Given the description of an element on the screen output the (x, y) to click on. 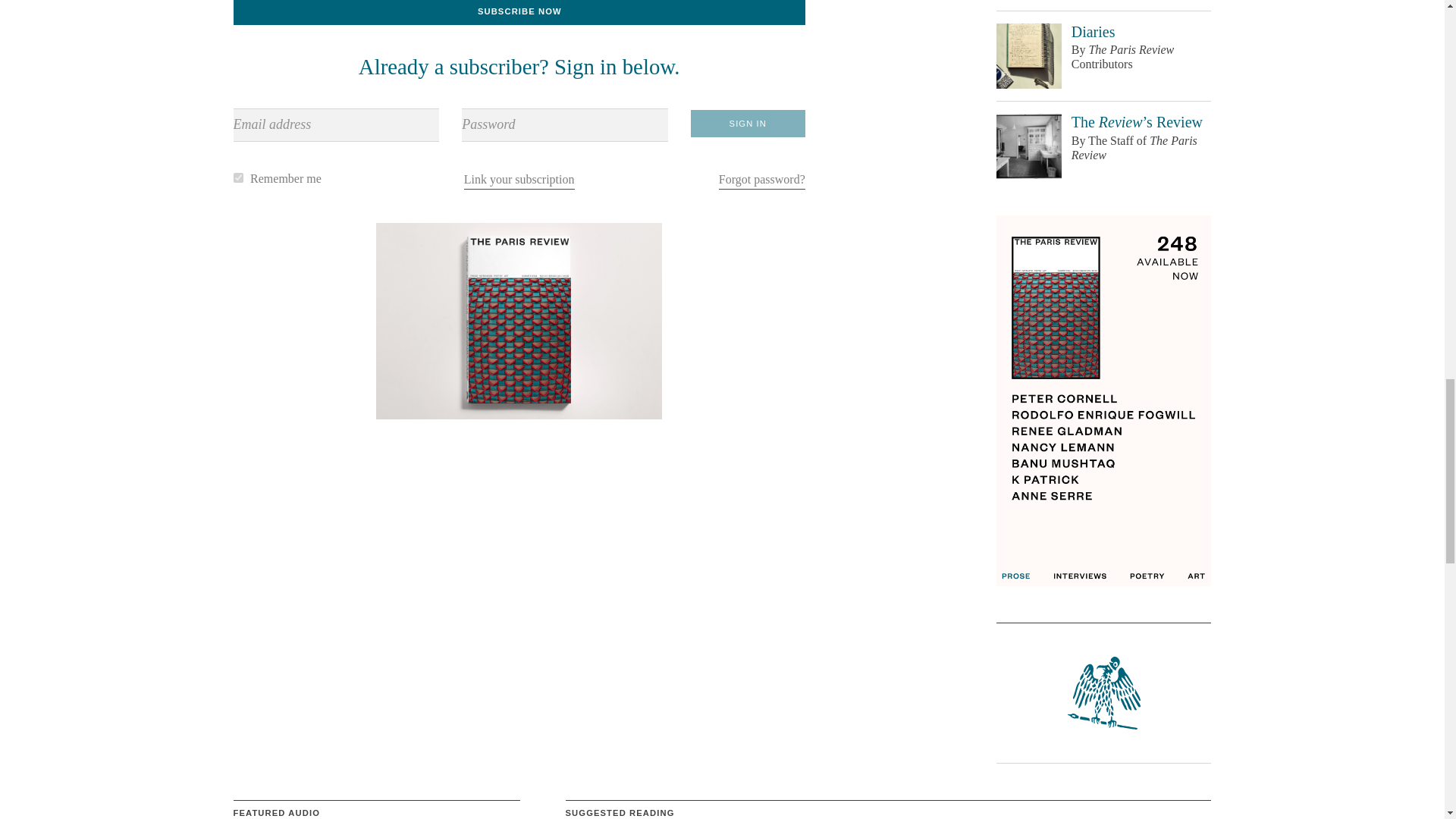
remember (237, 177)
Sign In (747, 123)
